Given the description of an element on the screen output the (x, y) to click on. 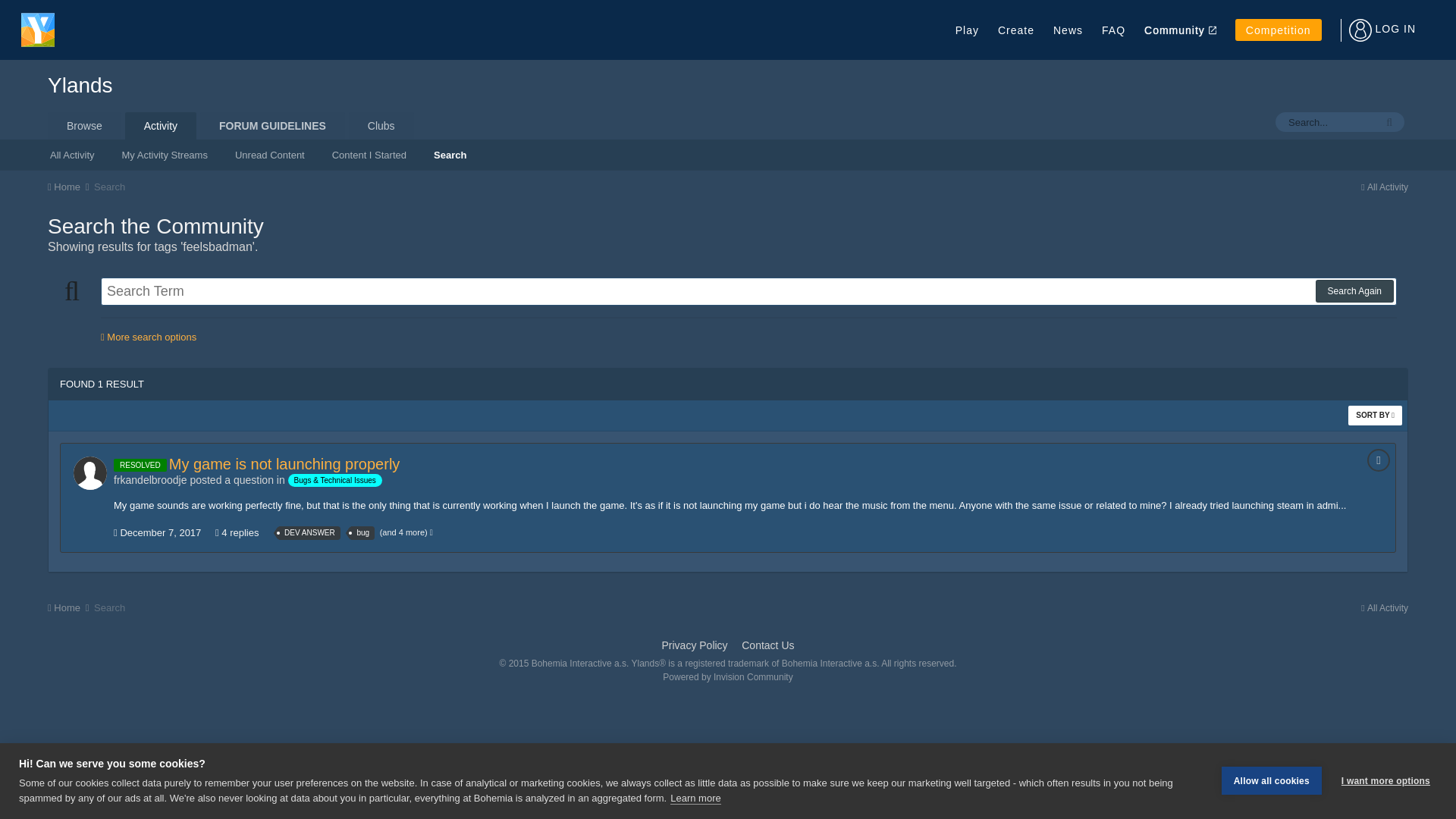
Home (69, 186)
All Activity (71, 153)
News (1067, 29)
Ylands News (1067, 29)
Competition (1278, 29)
Browse (84, 125)
Find other content tagged with 'DEV ANSWER' (309, 532)
Find other content tagged with 'RESOLVED' (140, 463)
Competition (1278, 29)
Ylands (80, 85)
Ylands Community Forums (1174, 29)
CreateYlands (1015, 29)
Play (966, 29)
Activity (160, 125)
Create (1015, 29)
